Given the description of an element on the screen output the (x, y) to click on. 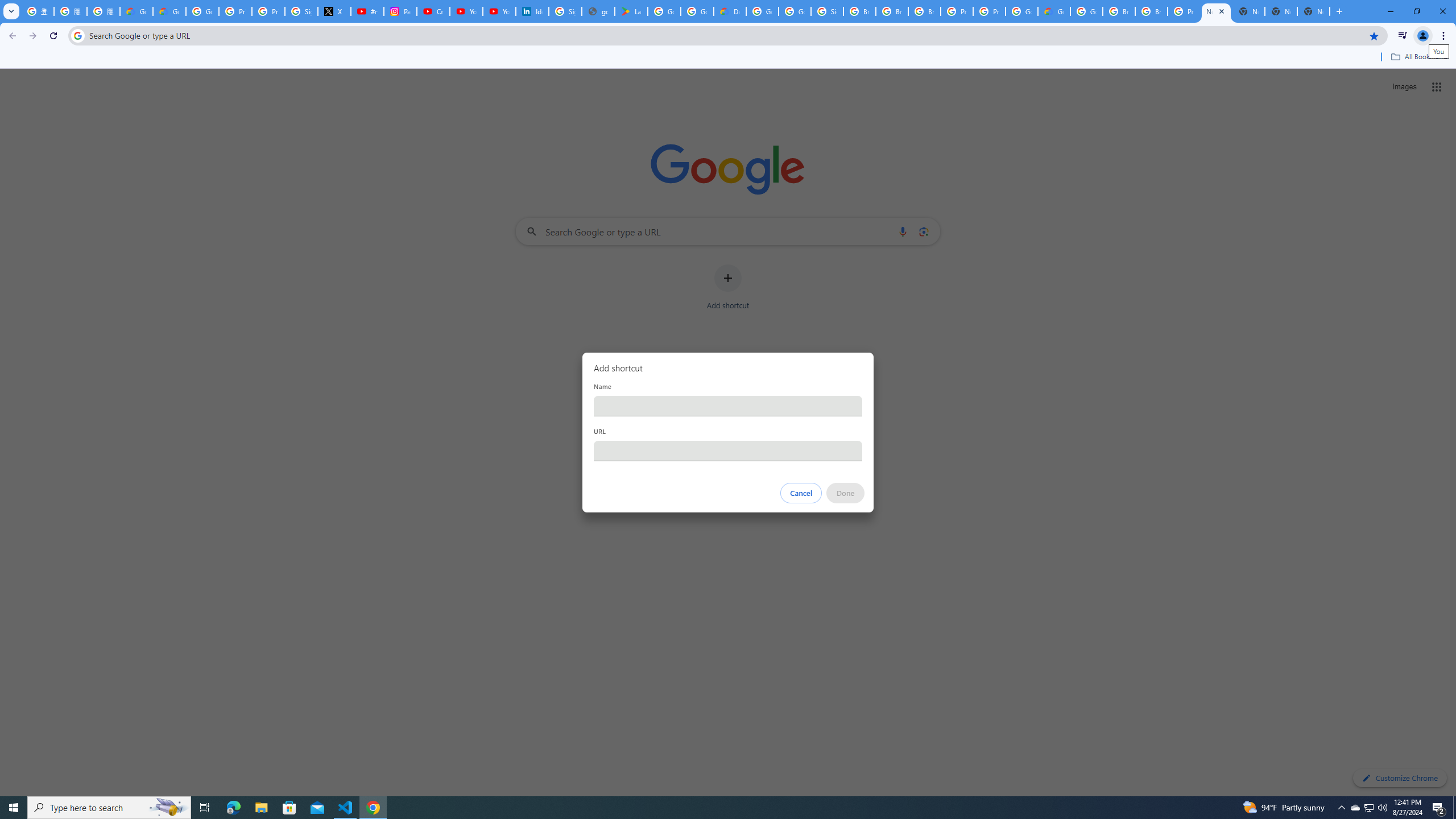
Name (727, 405)
Last Shelter: Survival - Apps on Google Play (631, 11)
Sign in - Google Accounts (301, 11)
Browse Chrome as a guest - Computer - Google Chrome Help (1118, 11)
